Given the description of an element on the screen output the (x, y) to click on. 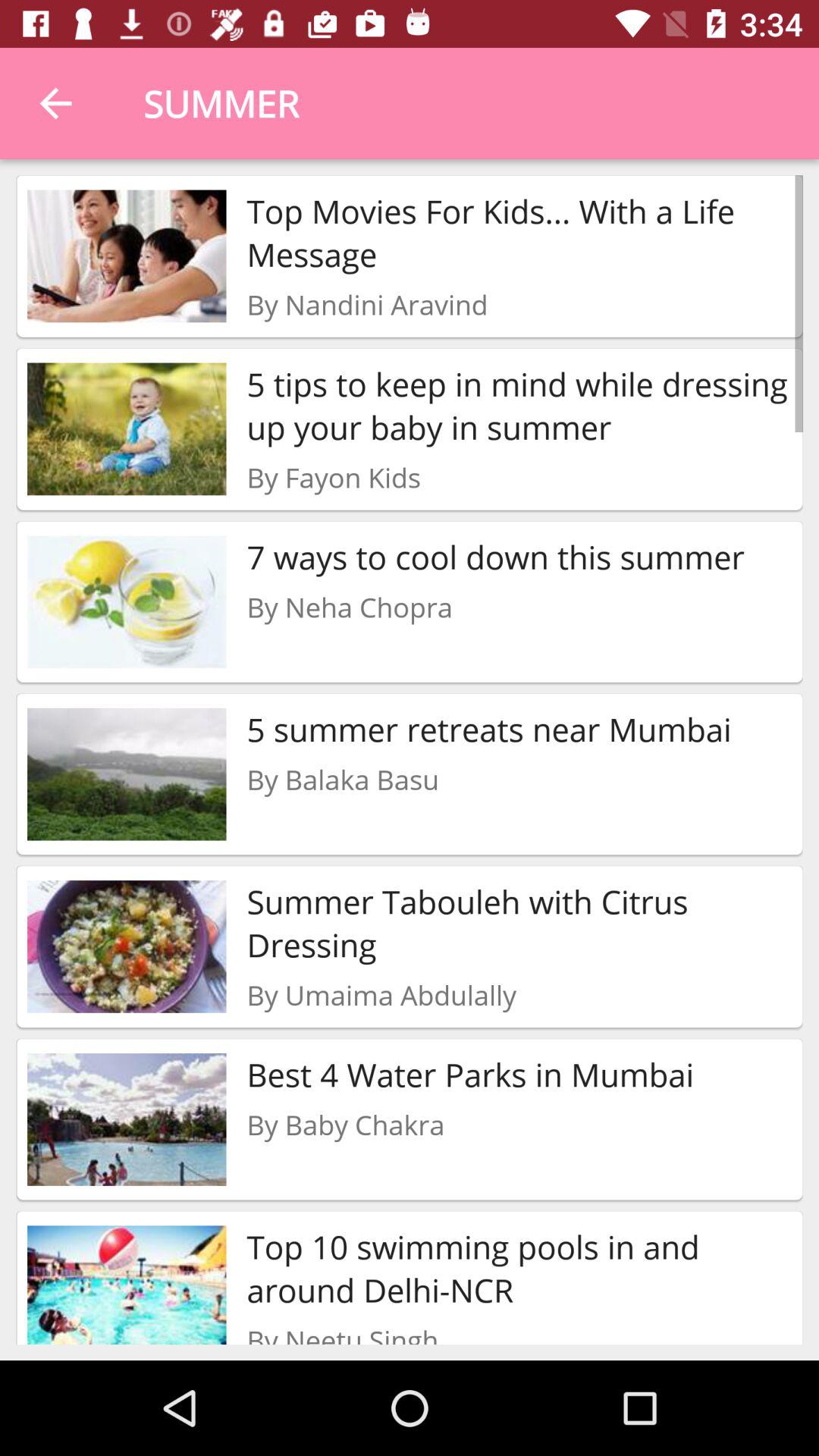
click the summer tabouleh with icon (519, 923)
